Given the description of an element on the screen output the (x, y) to click on. 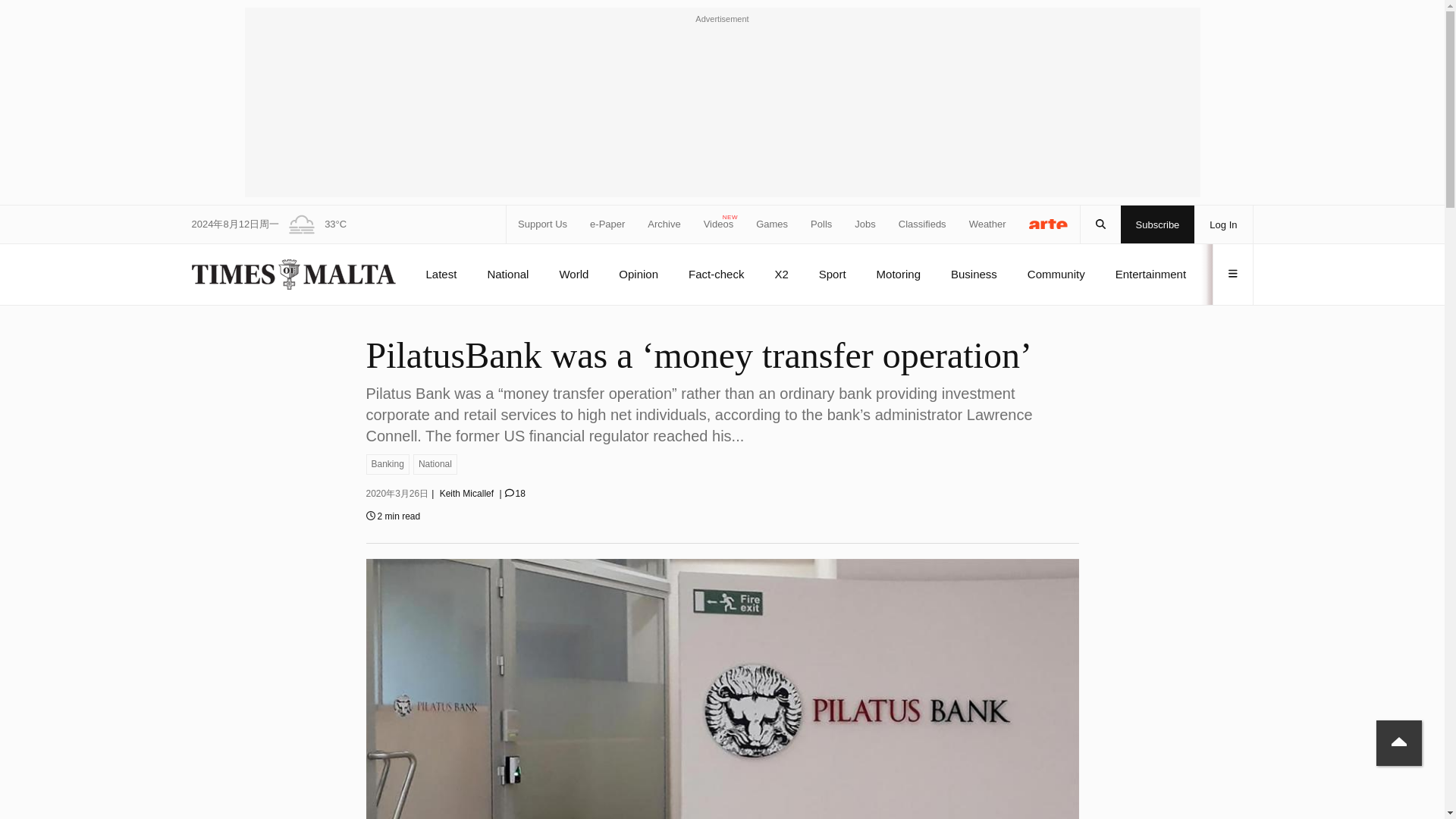
Weather (987, 224)
Entertainment (1150, 274)
View more articles by Keith Micallef (466, 493)
ARTE (1048, 223)
Fact-check (716, 274)
Classifieds (922, 224)
National (435, 464)
18 (515, 493)
Subscribe (1158, 224)
